Given the description of an element on the screen output the (x, y) to click on. 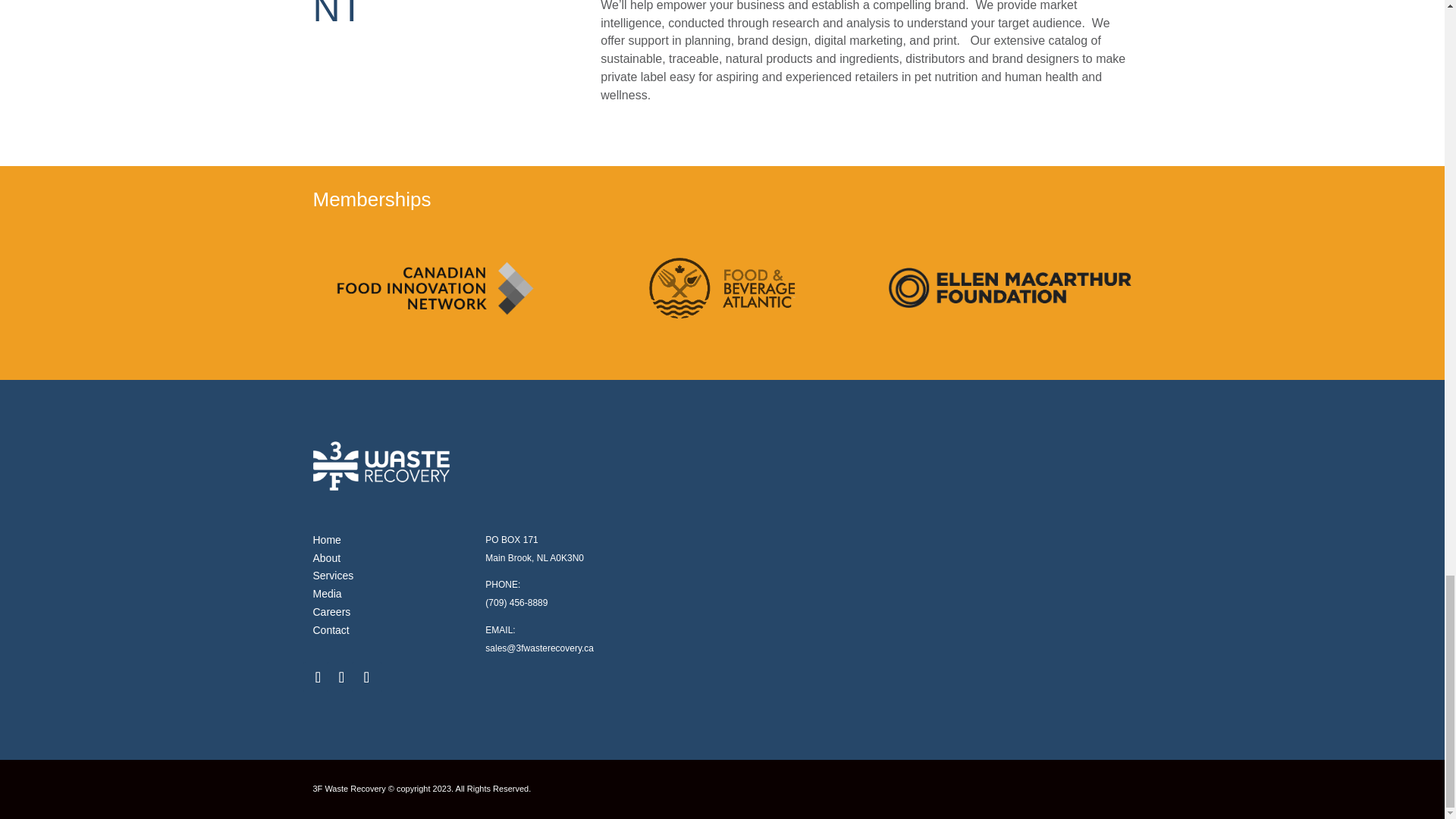
ezgif (1009, 287)
FoodBeverageAtlantic (721, 287)
Follow on Instagram (341, 676)
Follow on Facebook (317, 676)
FooterLogo (380, 465)
Follow on Twitter (366, 676)
